Given the description of an element on the screen output the (x, y) to click on. 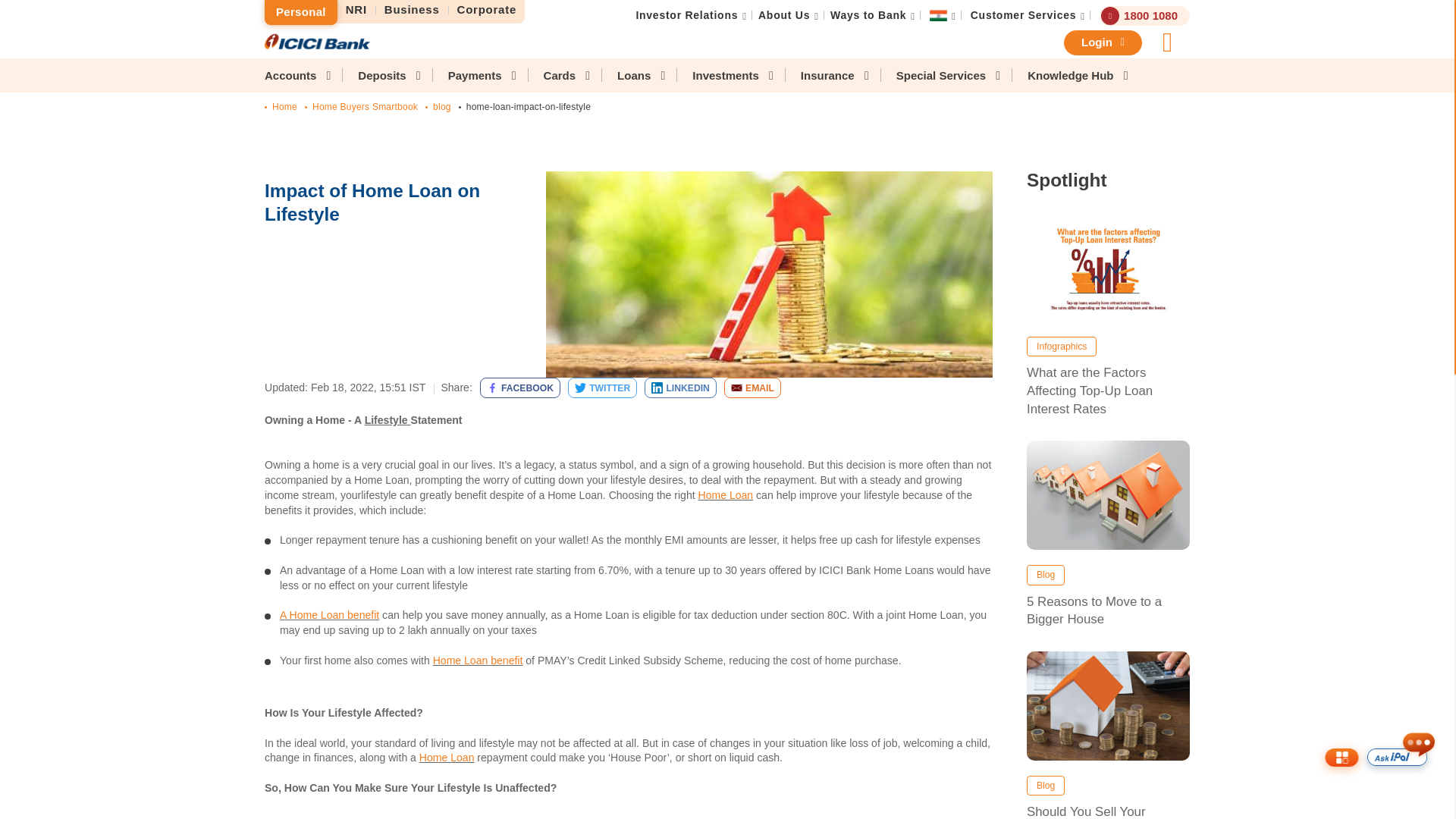
Corporate (486, 9)
Personal (300, 12)
Investor Relations (686, 15)
Ways to Bank (867, 15)
Business (411, 9)
About Us (783, 15)
NRI (356, 9)
Customer Services (1024, 15)
